Given the description of an element on the screen output the (x, y) to click on. 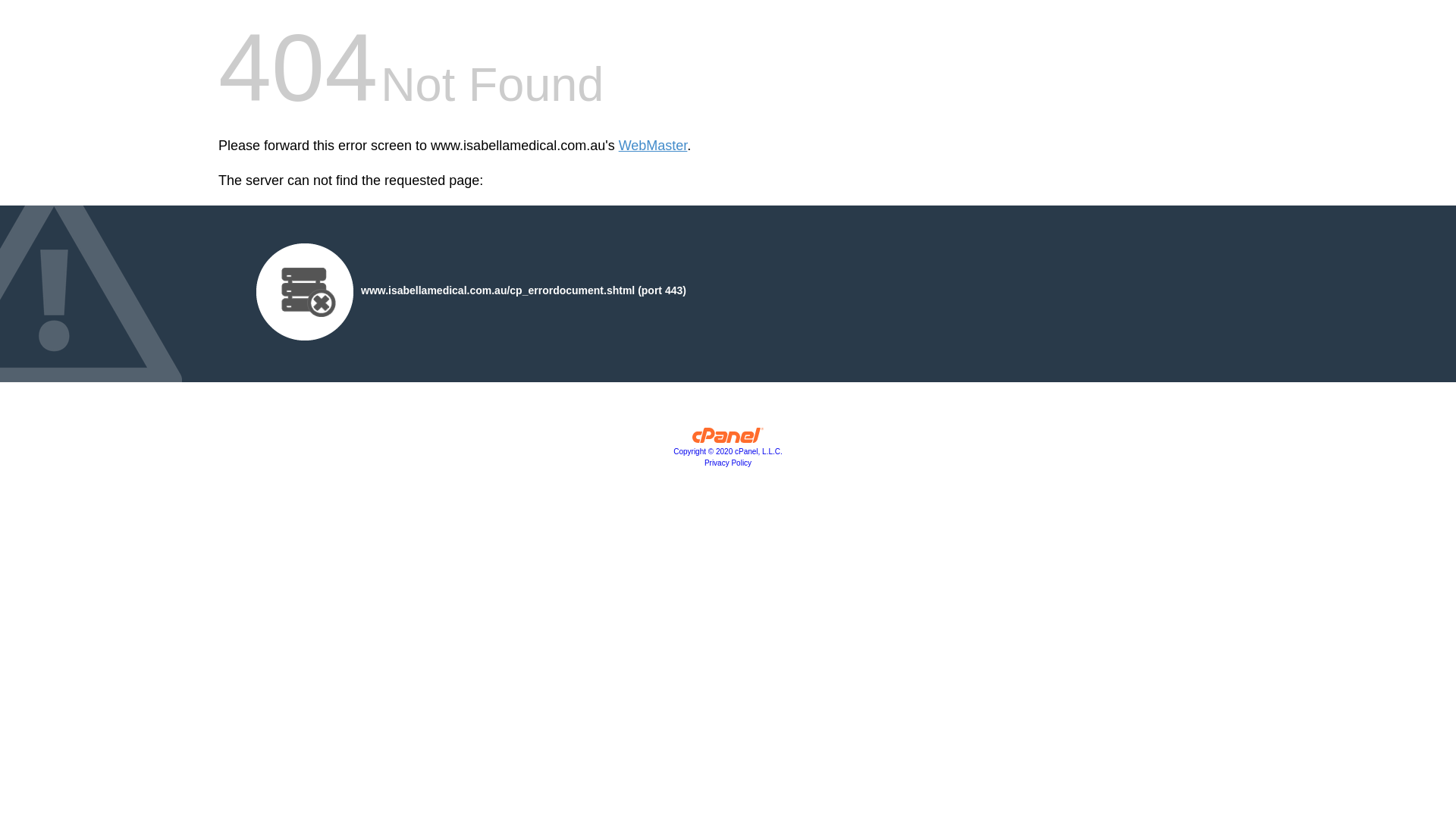
cPanel, Inc. Element type: hover (728, 439)
WebMaster Element type: text (652, 145)
Privacy Policy Element type: text (727, 462)
